Given the description of an element on the screen output the (x, y) to click on. 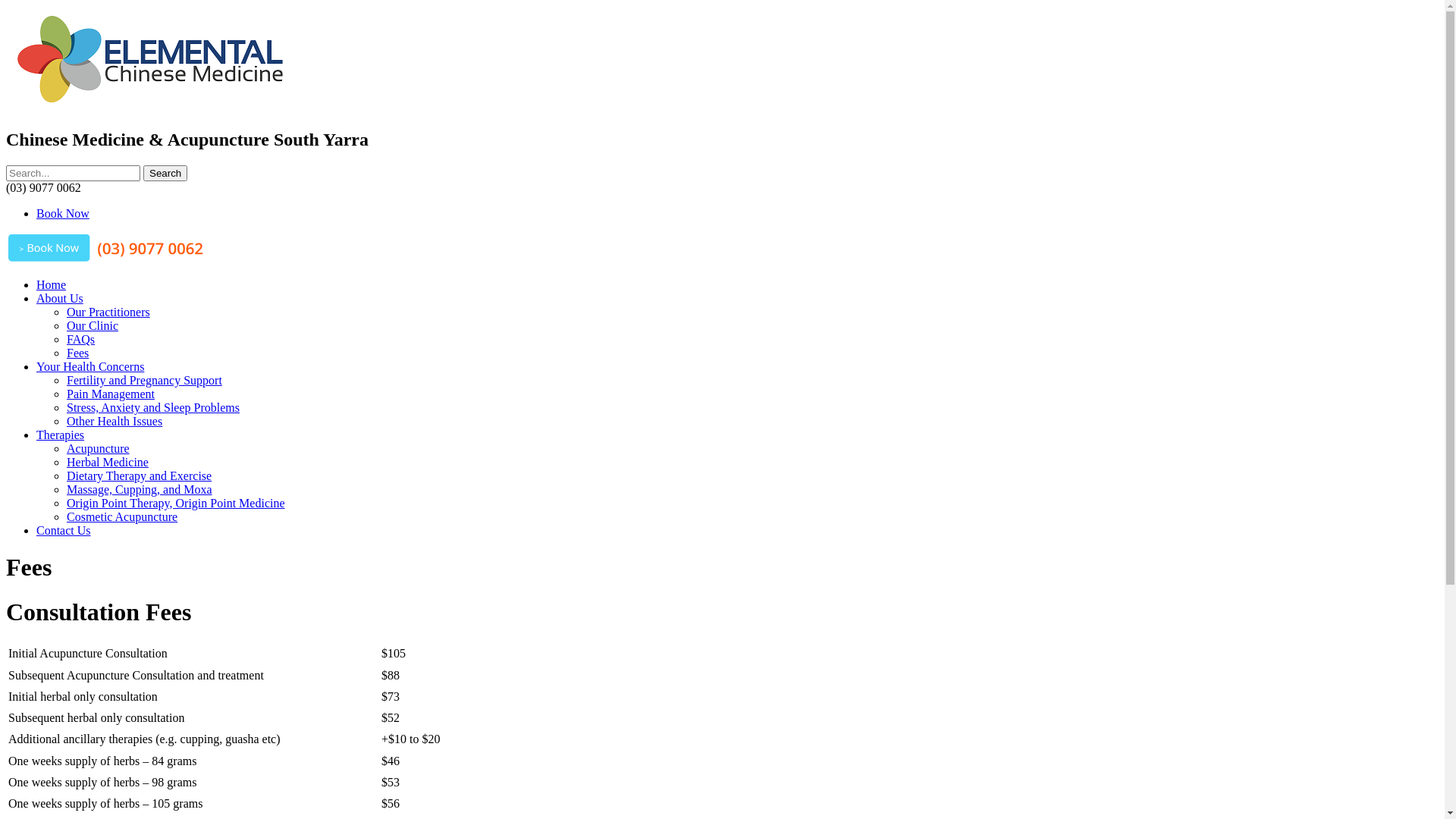
Stress, Anxiety and Sleep Problems Element type: text (152, 407)
Cosmetic Acupuncture Element type: text (121, 516)
Origin Point Therapy, Origin Point Medicine Element type: text (175, 502)
Fees Element type: text (77, 352)
Home Element type: text (50, 284)
Pain Management Element type: text (110, 393)
Our Clinic Element type: text (92, 325)
Our Practitioners Element type: text (108, 311)
About Us Element type: text (59, 297)
FAQs Element type: text (80, 338)
Search Element type: text (165, 173)
Therapies Element type: text (60, 434)
Herbal Medicine Element type: text (107, 461)
Your Health Concerns Element type: text (90, 366)
Contact Us Element type: text (63, 530)
Book Now Element type: text (62, 213)
Dietary Therapy and Exercise Element type: text (138, 475)
Fertility and Pregnancy Support Element type: text (144, 379)
Massage, Cupping, and Moxa Element type: text (139, 489)
Other Health Issues Element type: text (114, 420)
Acupuncture Element type: text (97, 448)
